Given the description of an element on the screen output the (x, y) to click on. 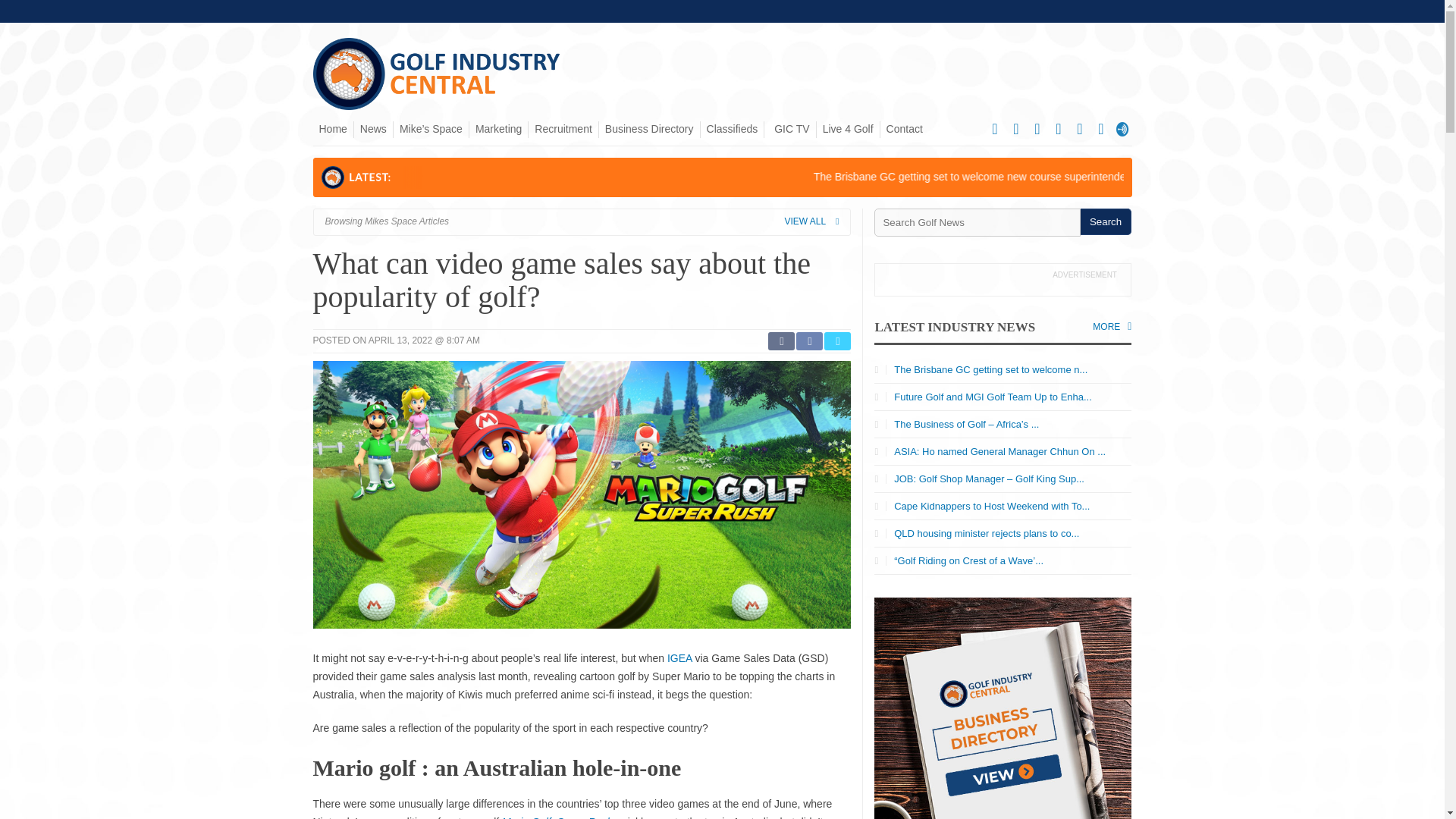
News (373, 129)
VIEW ALL (811, 221)
What can video game sales say about the popularity of golf? (561, 279)
Contact (904, 129)
Classifieds (732, 129)
GIC TV (789, 129)
Business Directory (649, 129)
Marketing (497, 129)
Home (332, 129)
IGEA (679, 657)
Live 4 Golf (847, 129)
Golf Industry Central (437, 105)
Recruitment (562, 129)
